Given the description of an element on the screen output the (x, y) to click on. 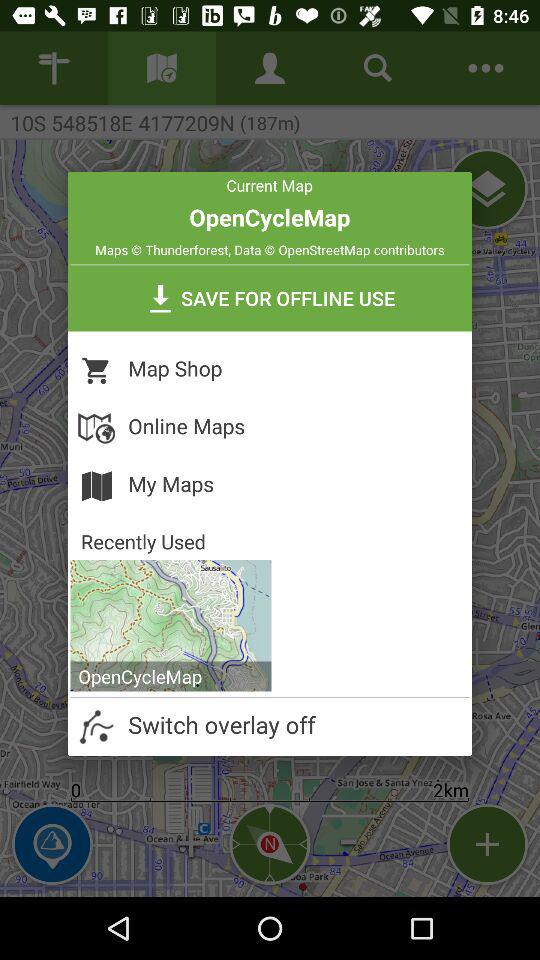
press icon above the map shop (269, 298)
